Given the description of an element on the screen output the (x, y) to click on. 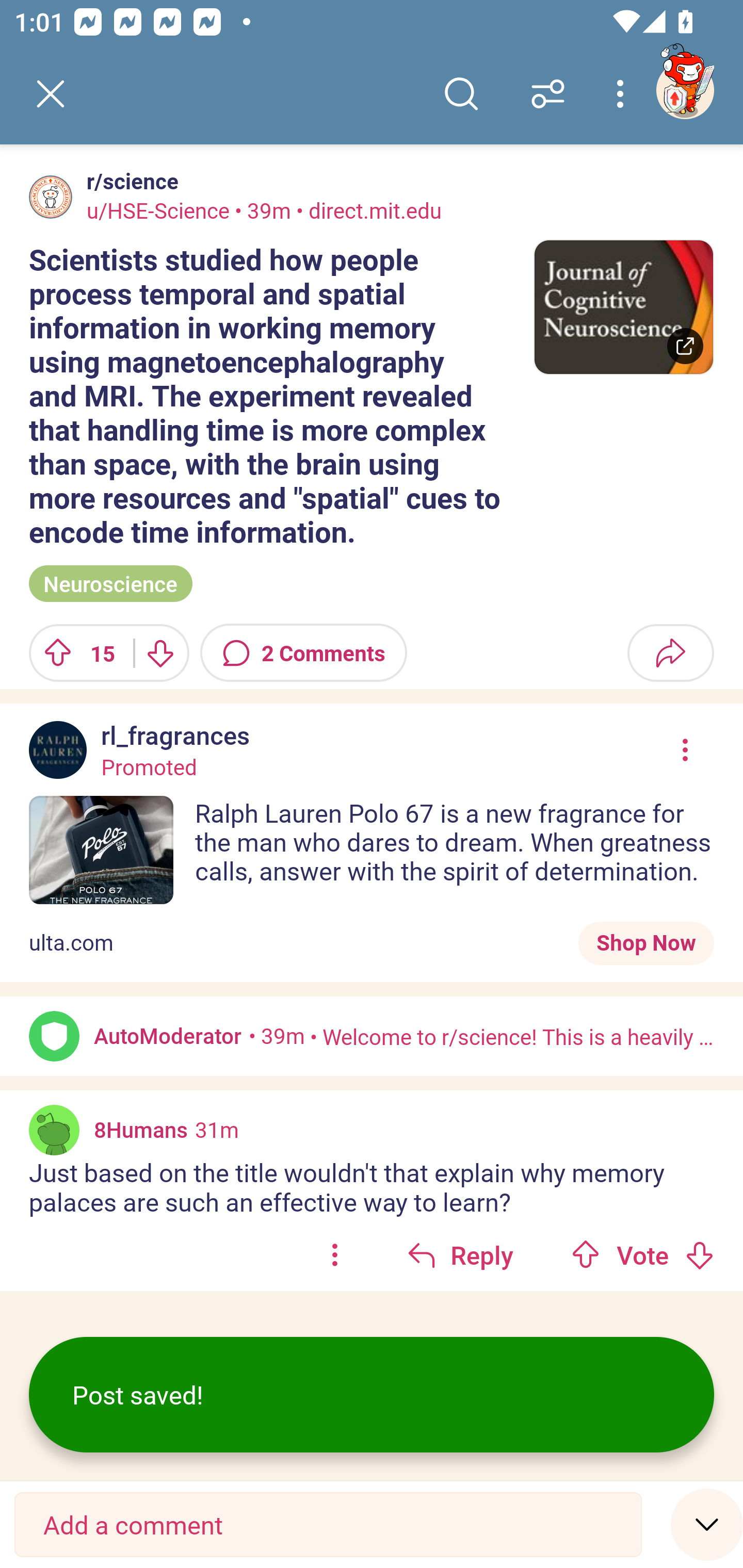
Back (50, 93)
TestAppium002 account (685, 90)
Search comments (460, 93)
Sort comments (547, 93)
More options (623, 93)
r/science (128, 181)
Avatar (50, 196)
u/HSE-Science (157, 210)
 • direct.mit.edu (366, 210)
Thumbnail image (623, 306)
Neuroscience (110, 584)
Upvote 15 (73, 652)
Downvote (158, 652)
2 Comments (303, 652)
Share (670, 652)
Avatar (53, 1036)
• 39m (276, 1035)
Avatar (53, 1130)
31m (216, 1129)
options (334, 1254)
Reply (460, 1254)
Upvote Vote Downvote (642, 1254)
Upvote (585, 1255)
Downvote (699, 1255)
Speed read (706, 1524)
Add a comment (327, 1524)
